Given the description of an element on the screen output the (x, y) to click on. 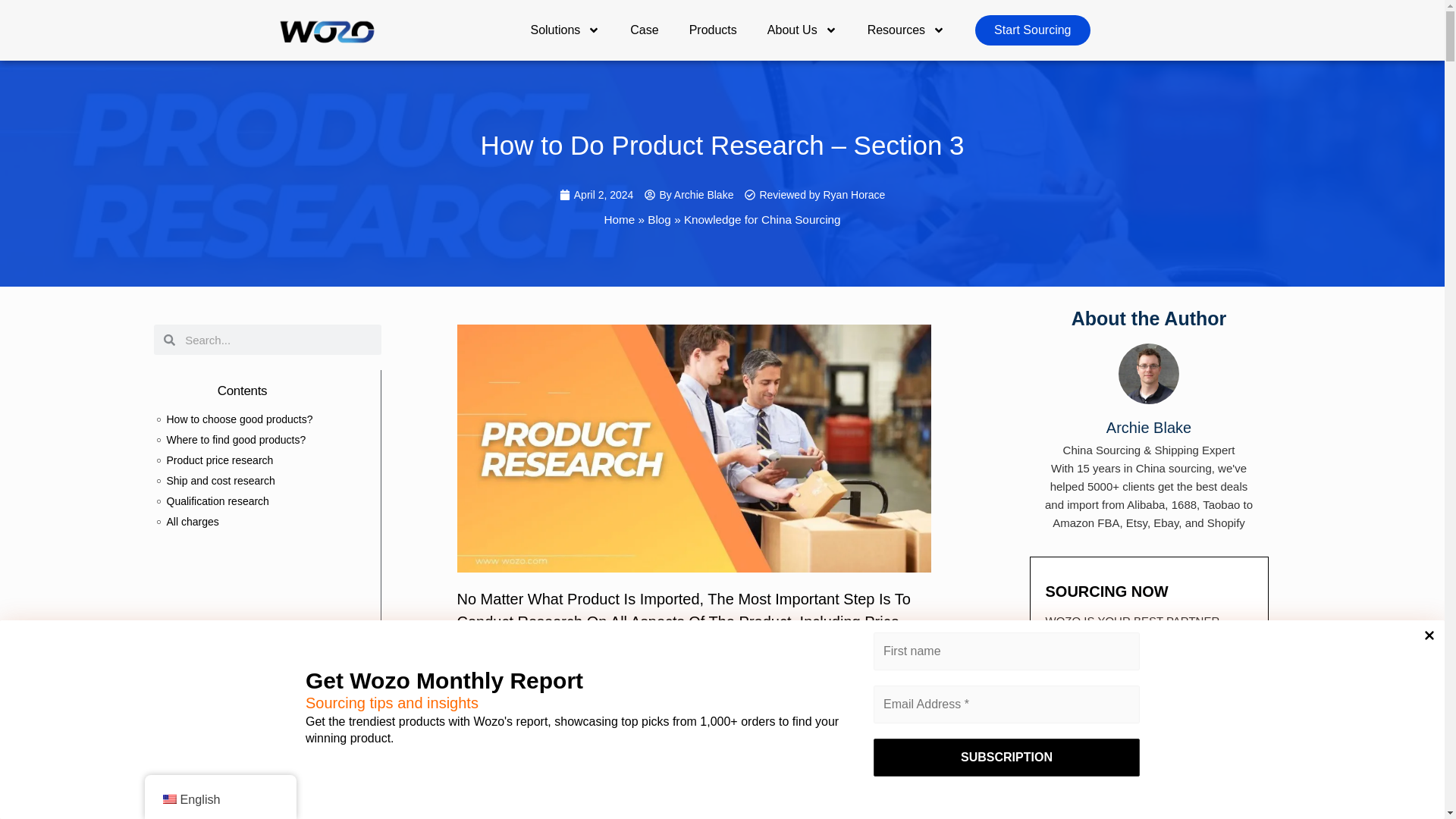
Start Sourcing (1032, 30)
First name (1006, 651)
Solutions (564, 30)
Case (643, 30)
April 2, 2024 (596, 194)
About Us (801, 30)
Email Address (1006, 704)
Products (713, 30)
English (168, 798)
Resources (905, 30)
SUBSCRIPTION (1006, 757)
